Given the description of an element on the screen output the (x, y) to click on. 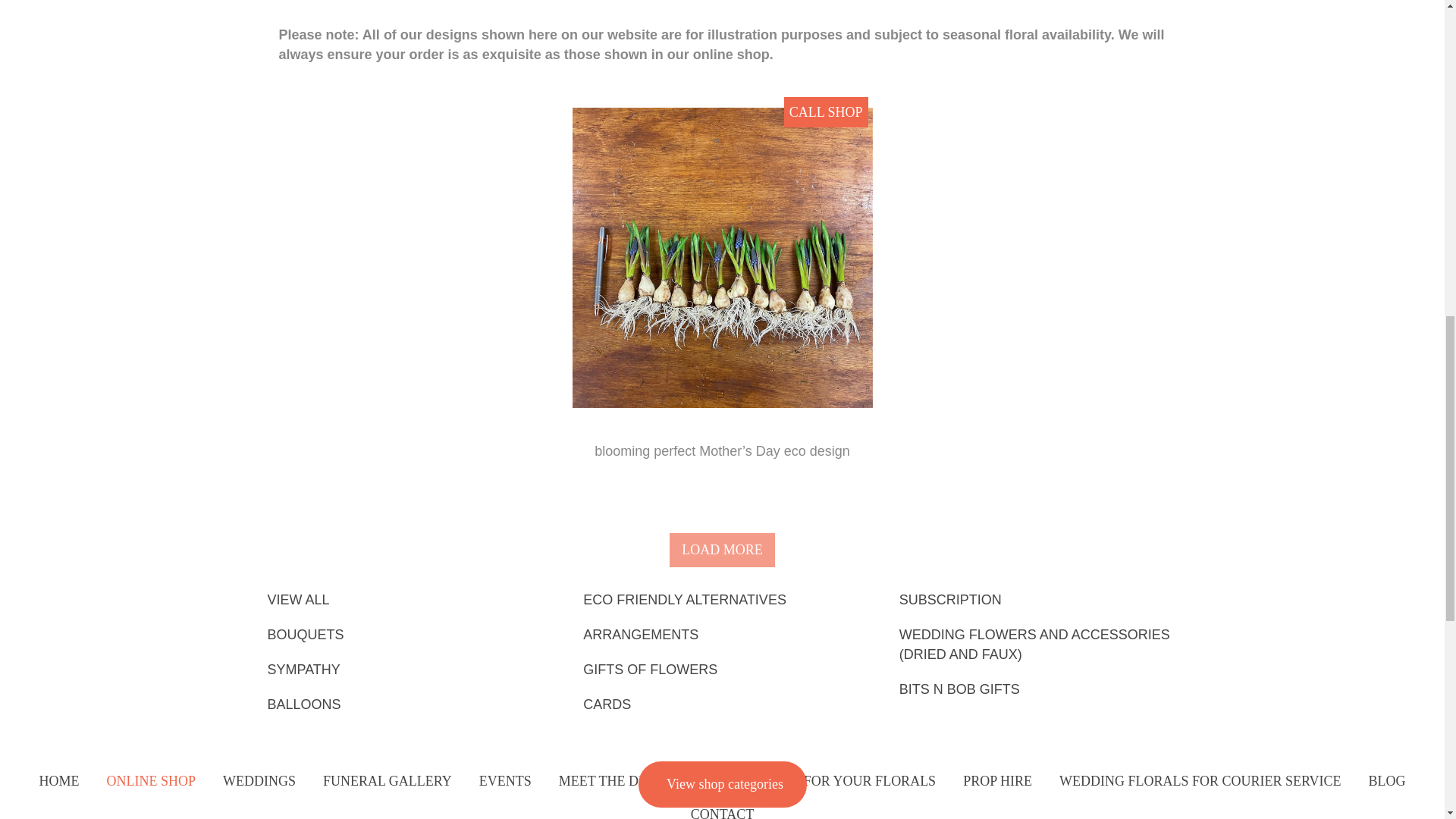
BOUQUETS (406, 634)
SYMPATHY (406, 669)
LOAD MORE (721, 550)
VIEW ALL (406, 599)
